Given the description of an element on the screen output the (x, y) to click on. 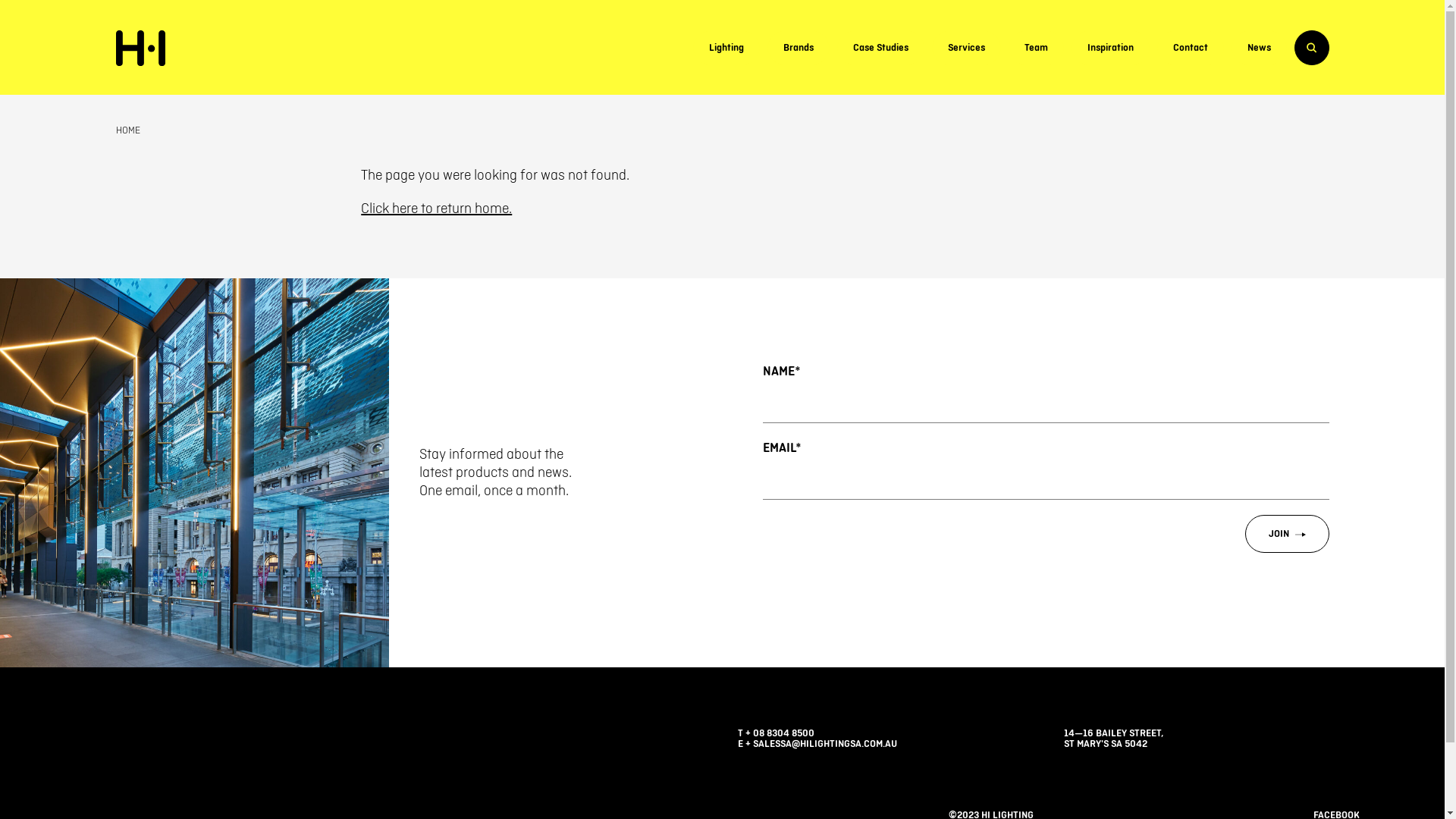
SALESSA@HILIGHTINGSA.COM.AU Element type: text (824, 743)
Contact Element type: text (1190, 47)
Lighting Element type: text (726, 47)
HOME Element type: text (127, 130)
News Element type: text (1258, 47)
Inspiration Element type: text (1109, 47)
Team Element type: text (1035, 47)
Case Studies Element type: text (880, 47)
Services Element type: text (965, 47)
Click here to return home. Element type: text (435, 208)
08 8304 8500 Element type: text (782, 733)
JOIN Element type: text (1287, 533)
Brands Element type: text (798, 47)
